Given the description of an element on the screen output the (x, y) to click on. 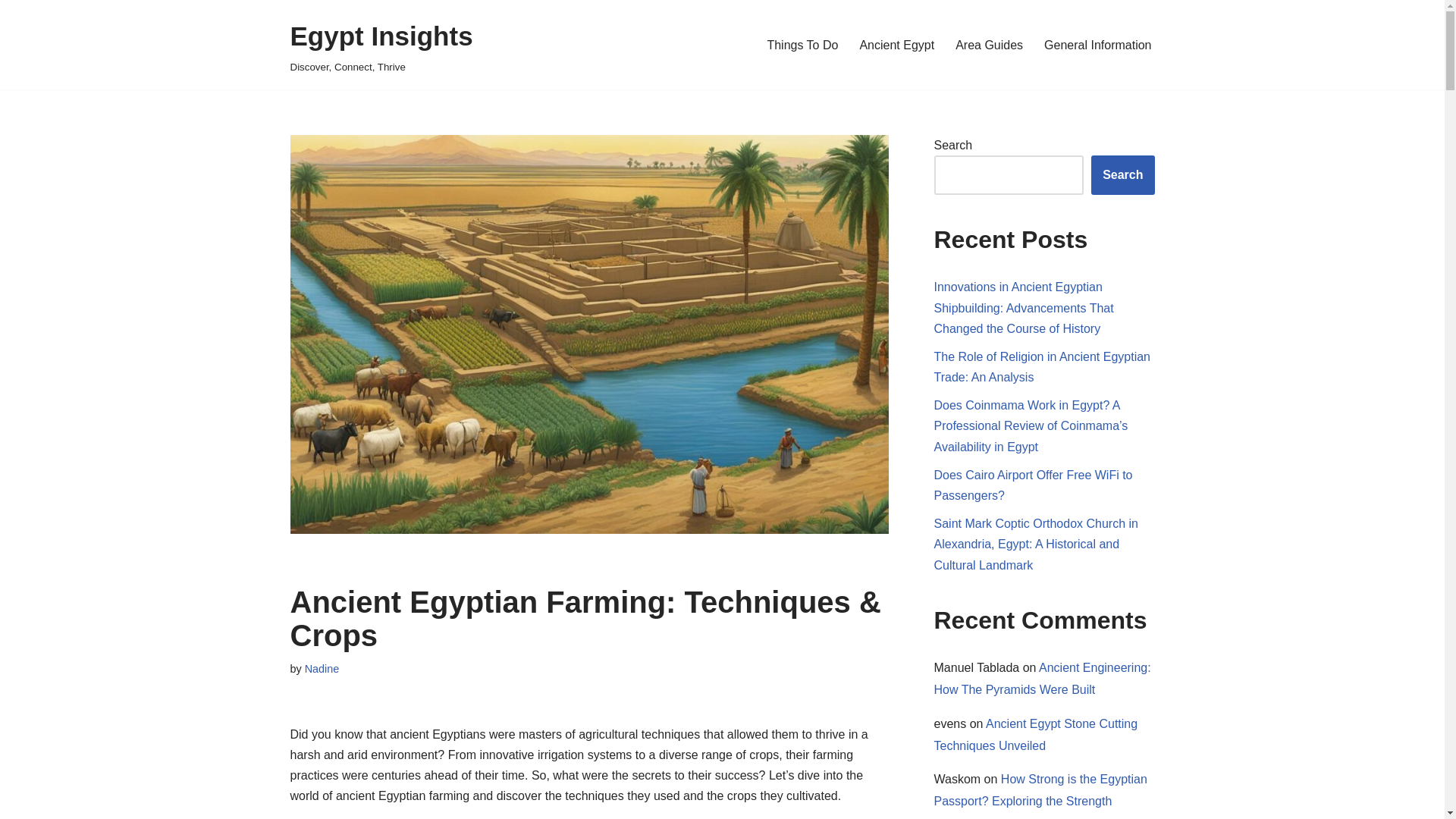
Nadine (321, 668)
Skip to content (11, 31)
General Information (1097, 45)
Things To Do (380, 44)
Search (802, 45)
Ancient Egypt (1122, 174)
Area Guides (896, 45)
Posts by Nadine (989, 45)
